Given the description of an element on the screen output the (x, y) to click on. 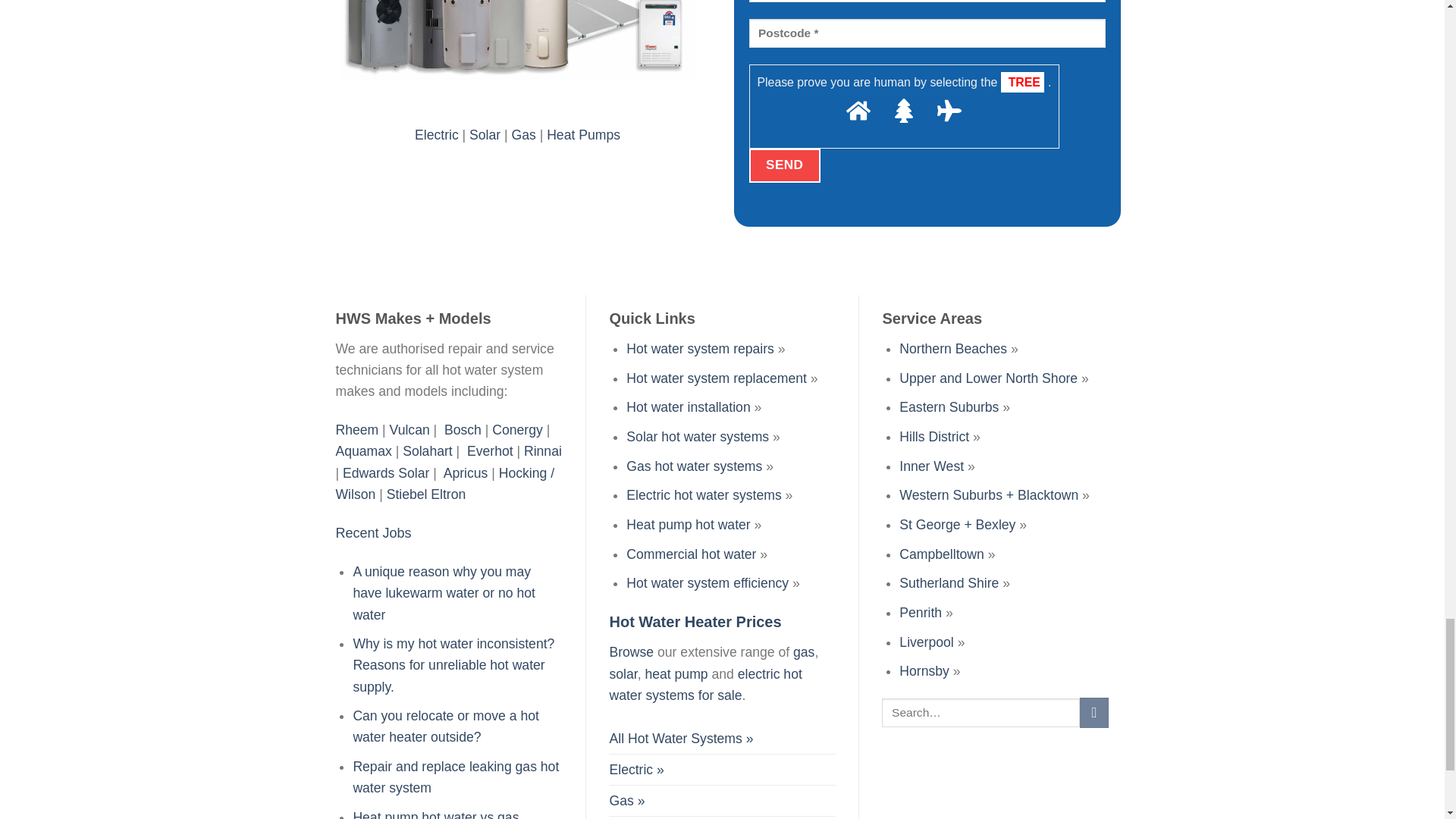
buy electric hot water system (635, 769)
buy gas hot water system (626, 800)
buy solar hot water system (629, 817)
Send (785, 165)
